Given the description of an element on the screen output the (x, y) to click on. 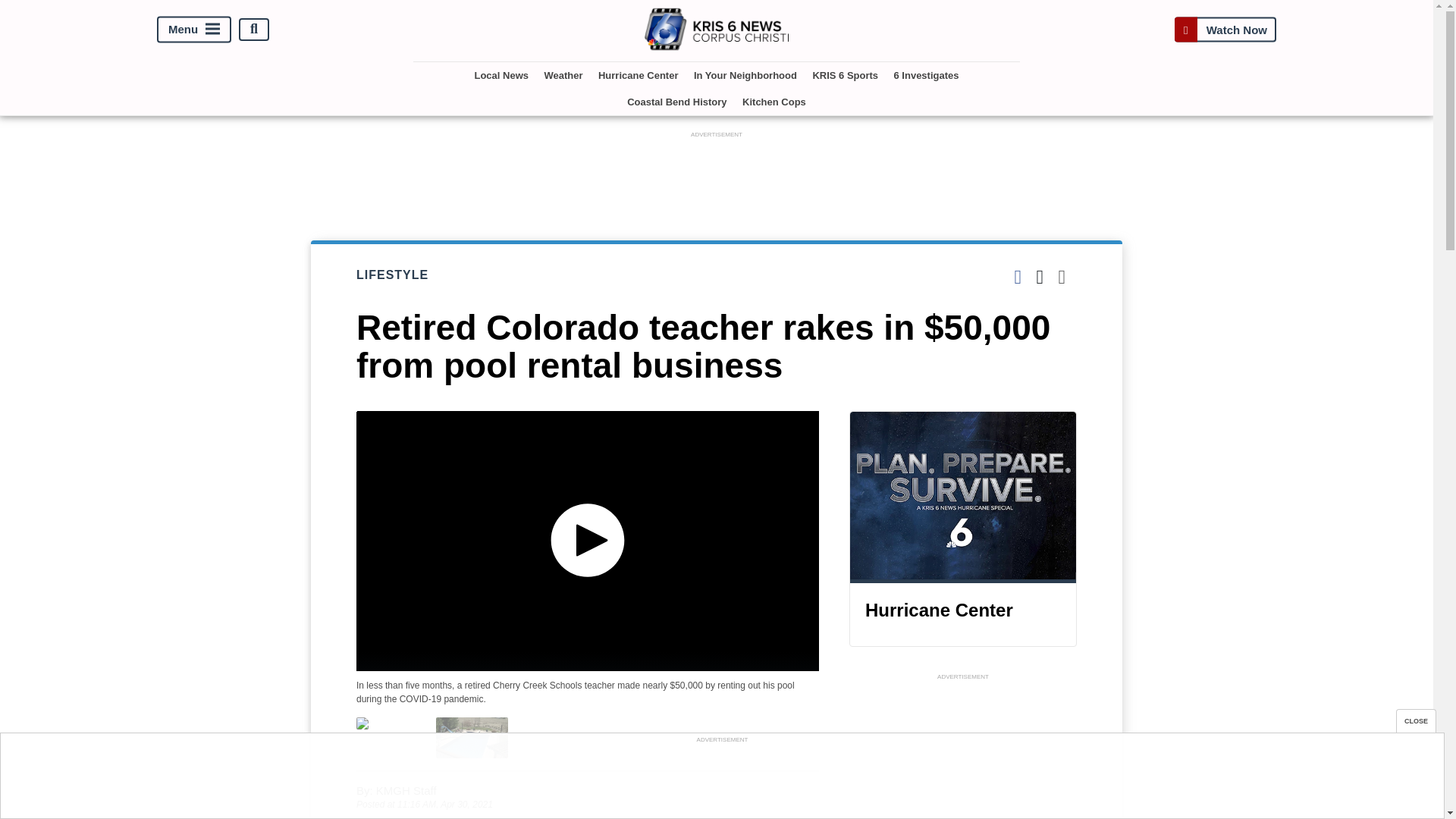
Menu (194, 28)
3rd party ad content (721, 780)
Watch Now (1224, 29)
3rd party ad content (962, 751)
3rd party ad content (716, 175)
